Given the description of an element on the screen output the (x, y) to click on. 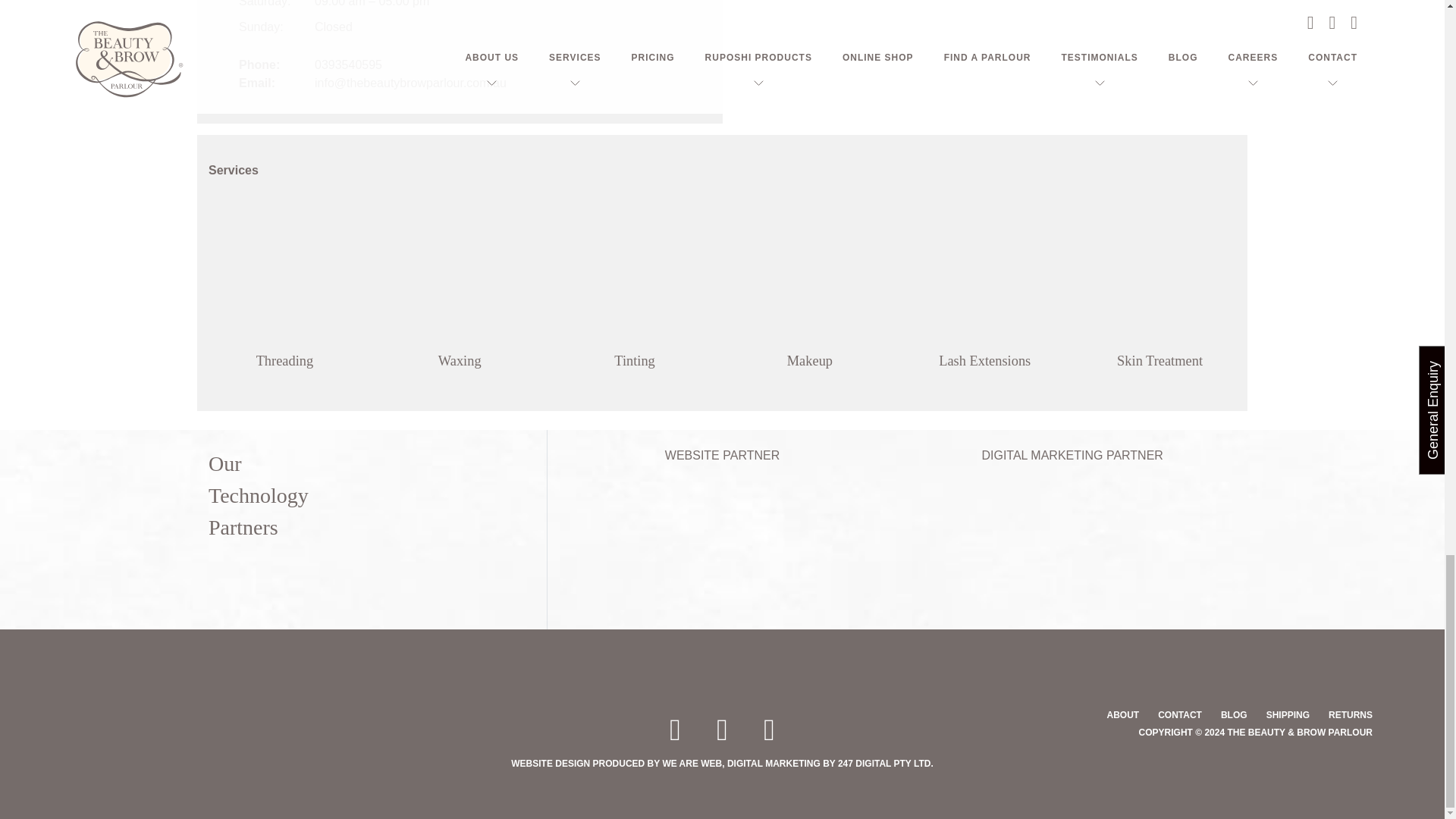
iStock-637899066 (809, 271)
Waxing (459, 271)
image1 (1160, 271)
image4 (984, 271)
tinting (634, 271)
threading (283, 271)
